Given the description of an element on the screen output the (x, y) to click on. 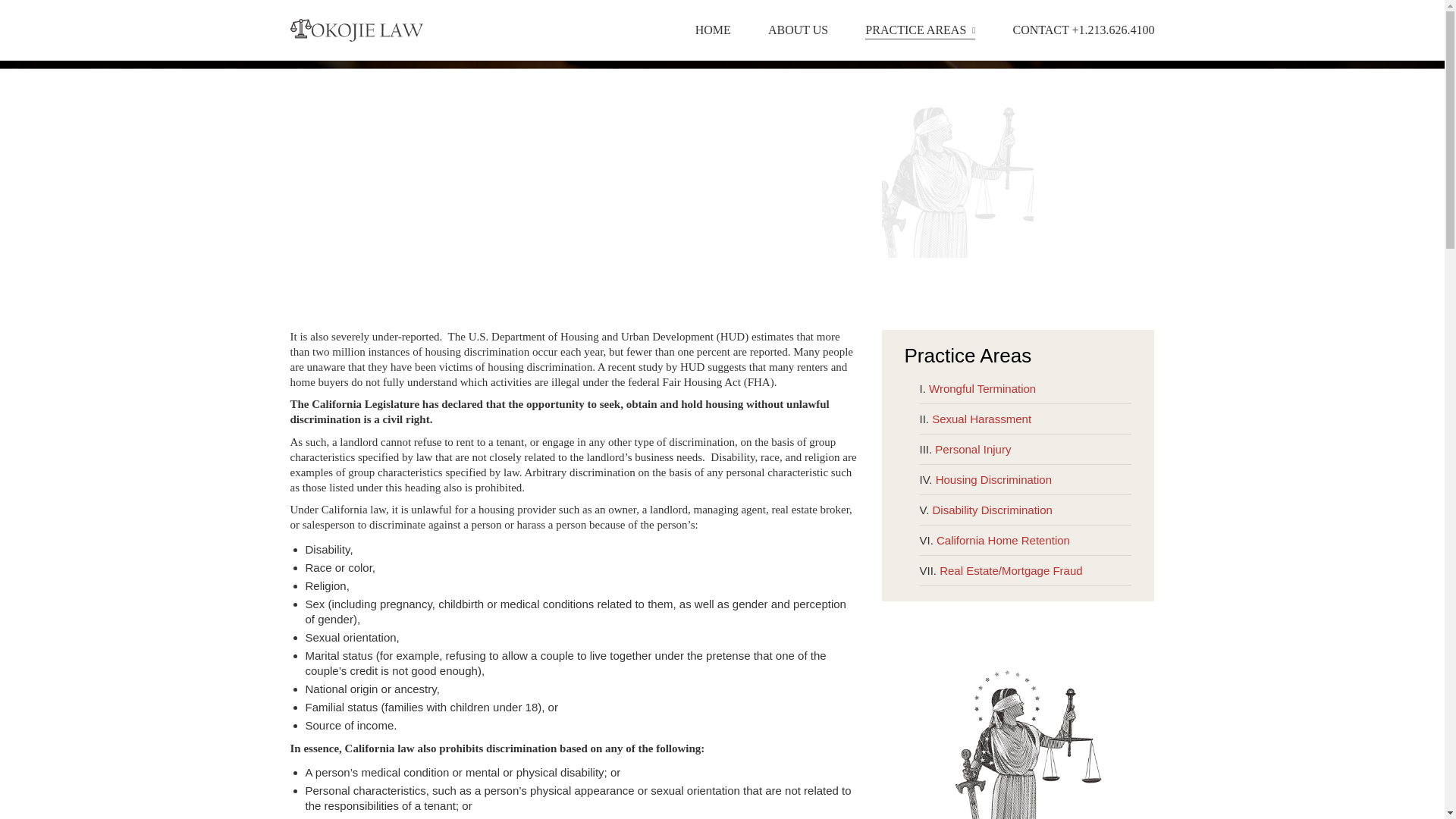
California Home Retention (1003, 540)
ABOUT US (798, 29)
HOME (712, 29)
Personal Injury (972, 449)
Sexual Harassment (980, 418)
PRACTICE AREAS (919, 29)
footer-law (956, 181)
Wrongful Termination (981, 388)
Disability Discrimination (991, 509)
Housing Discrimination (993, 479)
